Given the description of an element on the screen output the (x, y) to click on. 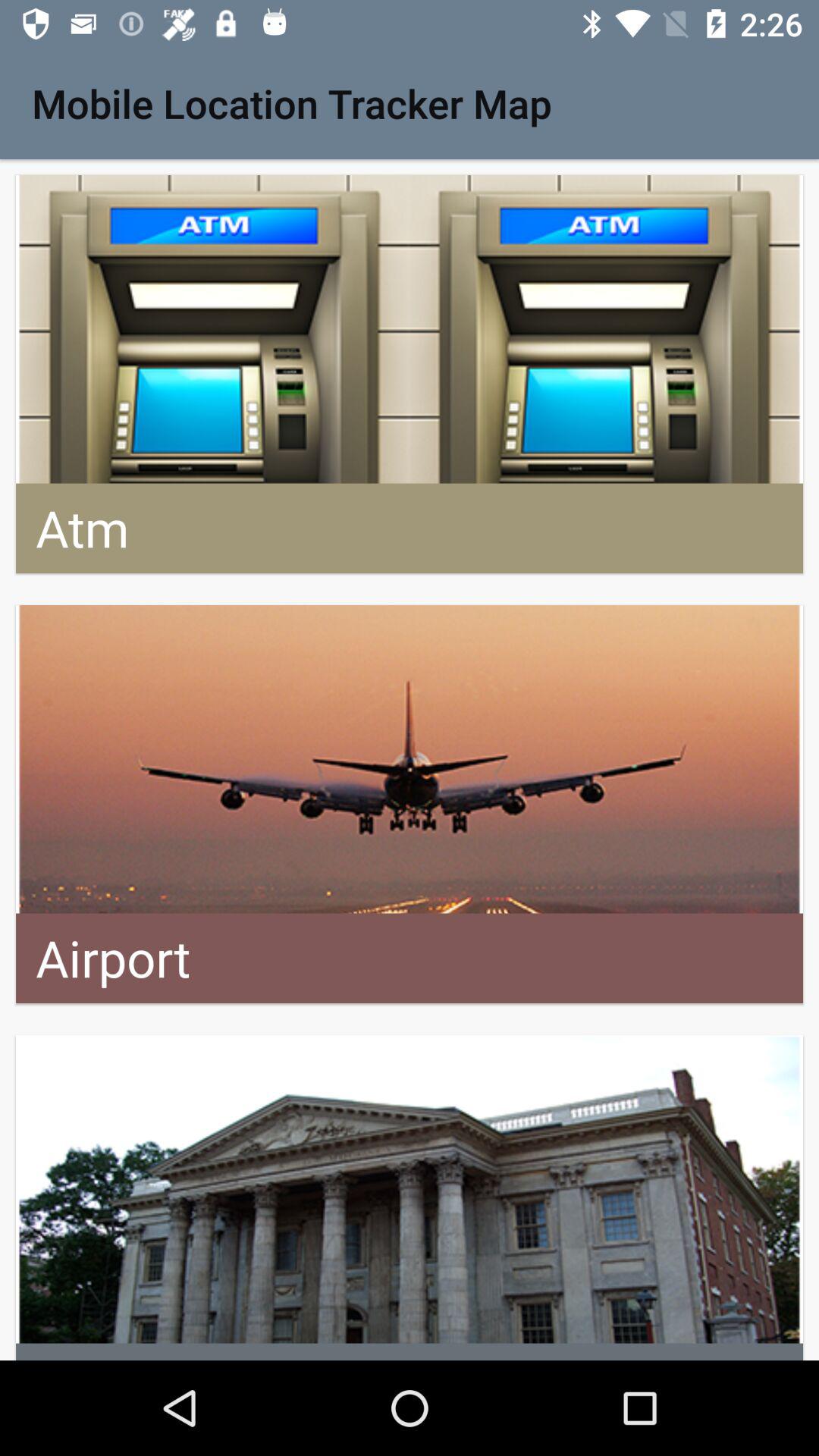
atm option (409, 374)
